Given the description of an element on the screen output the (x, y) to click on. 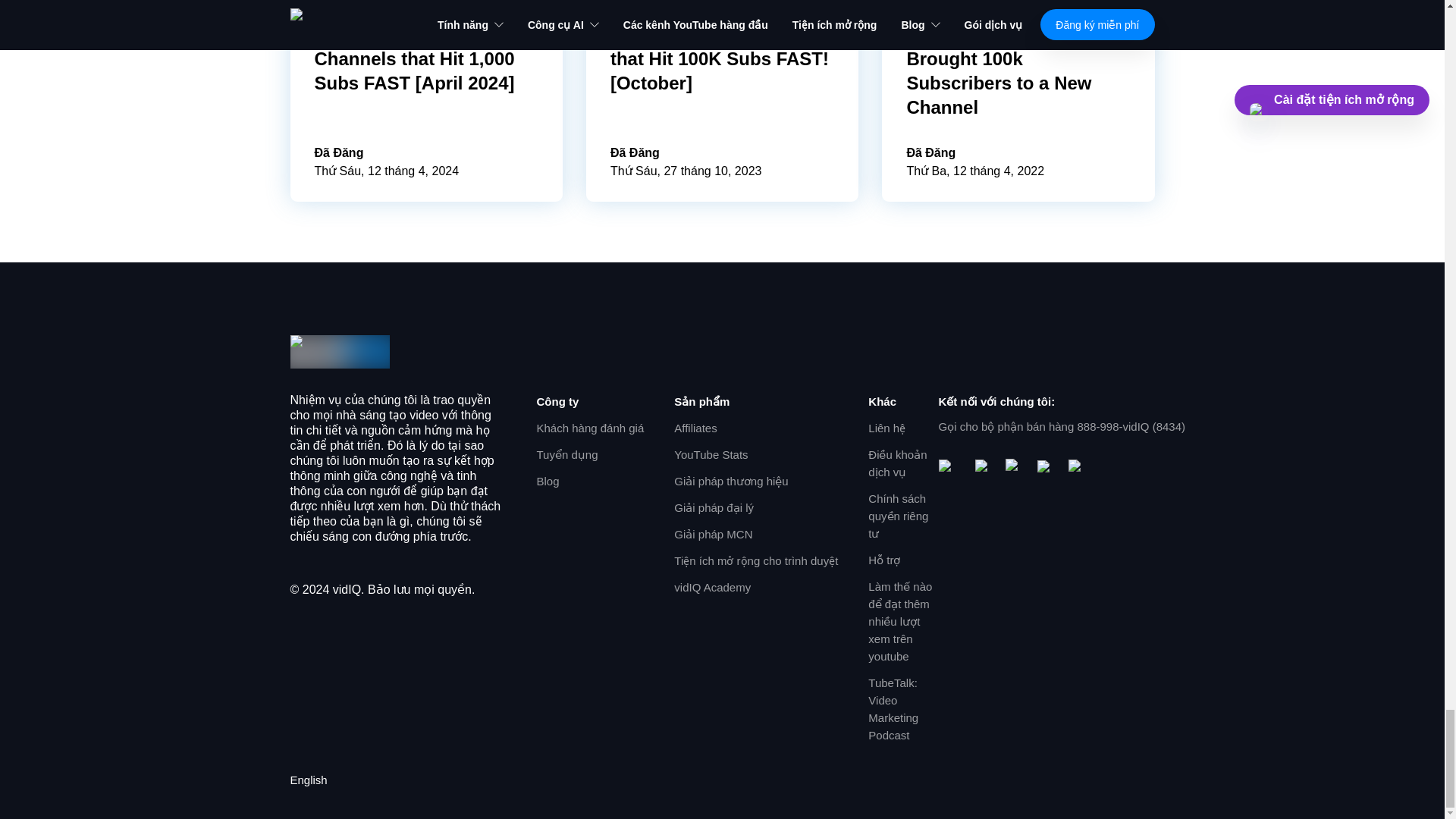
Twitter (1046, 467)
YouTube (950, 468)
LinkedIn (1076, 467)
Facebook (983, 468)
Instagram (1015, 468)
